Given the description of an element on the screen output the (x, y) to click on. 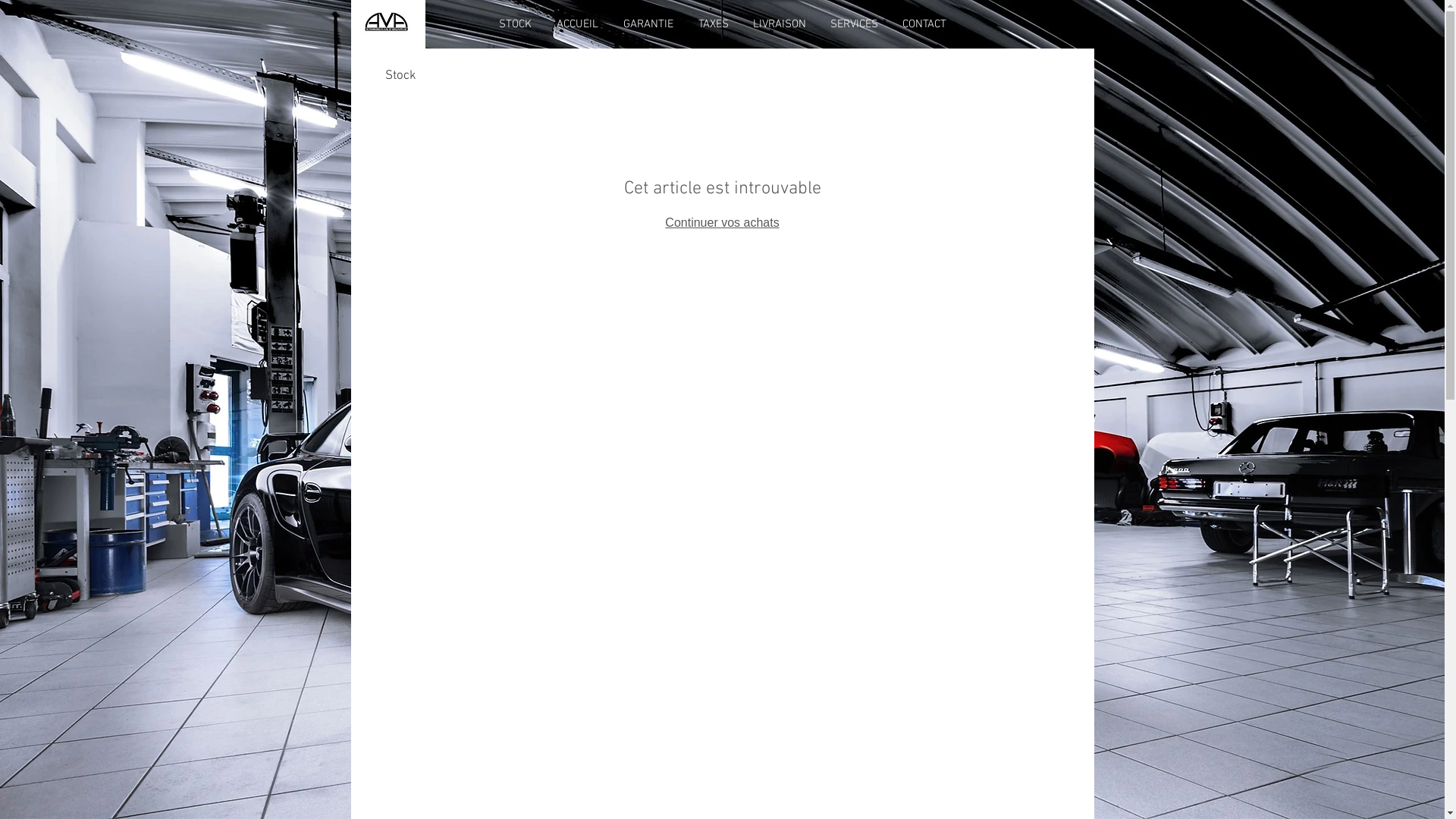
ACCUEIL Element type: text (577, 24)
SERVICES Element type: text (853, 24)
Stock Element type: text (400, 75)
STOCK Element type: text (515, 24)
Continuer vos achats Element type: text (721, 222)
TAXES Element type: text (712, 24)
GARANTIE Element type: text (648, 24)
CONTACT Element type: text (924, 24)
LIVRAISON Element type: text (778, 24)
